Given the description of an element on the screen output the (x, y) to click on. 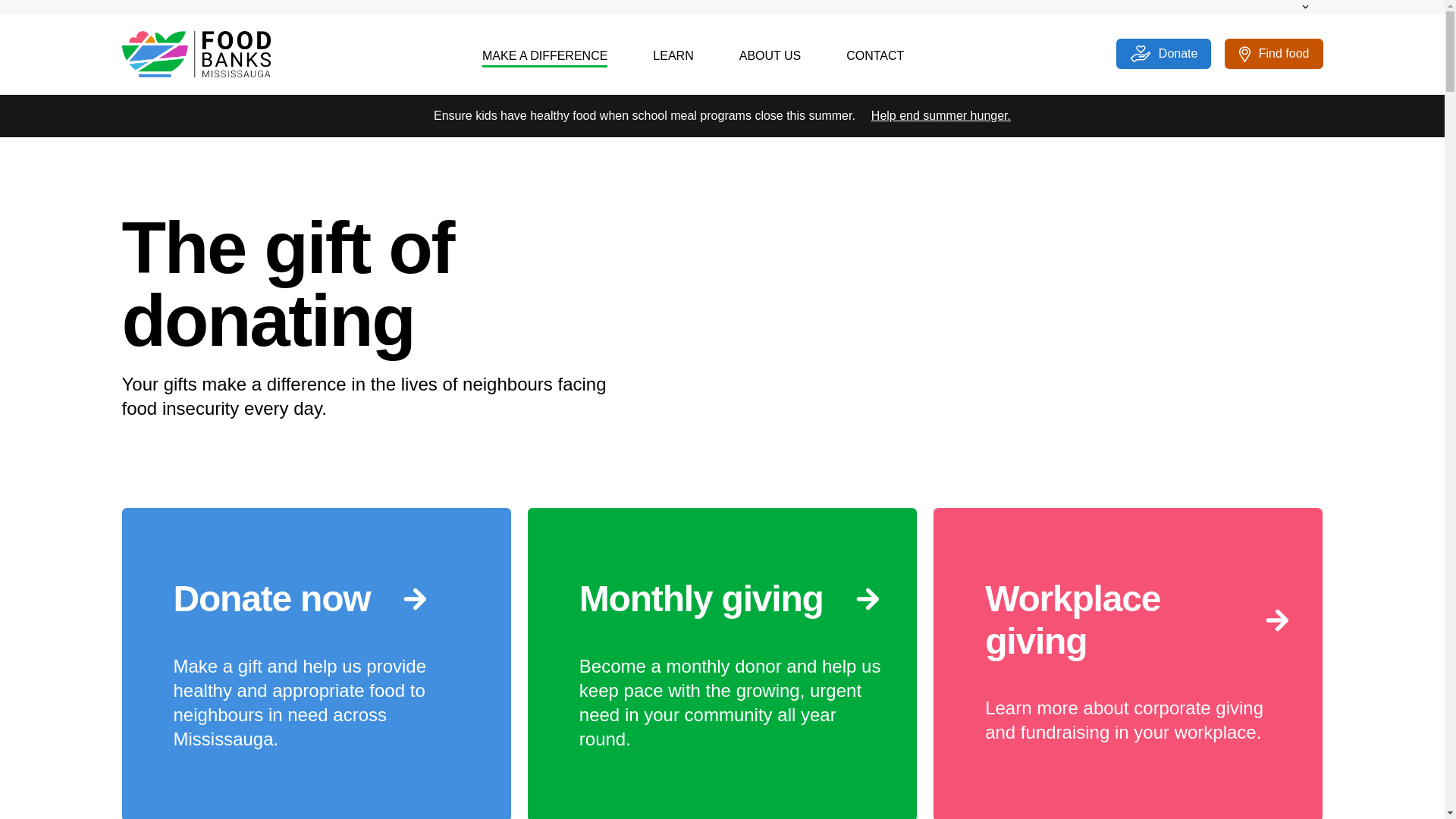
ABOUT US (770, 56)
LEARN (672, 56)
MAKE A DIFFERENCE (544, 56)
